Given the description of an element on the screen output the (x, y) to click on. 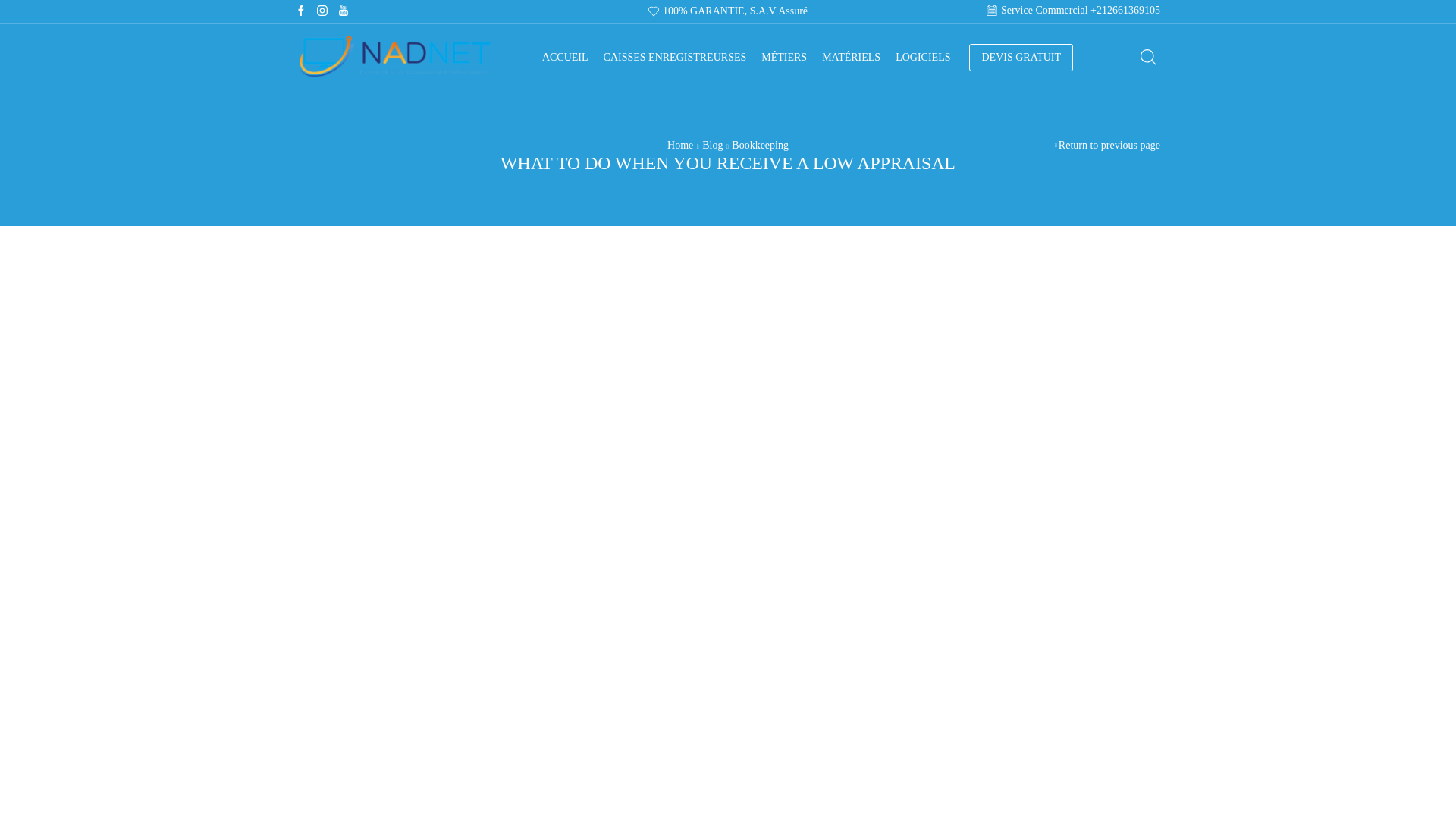
ACCUEIL (564, 56)
DEVIS GRATUIT (1021, 57)
LOGICIELS (922, 56)
CAISSES ENREGISTREURSES (675, 56)
